Given the description of an element on the screen output the (x, y) to click on. 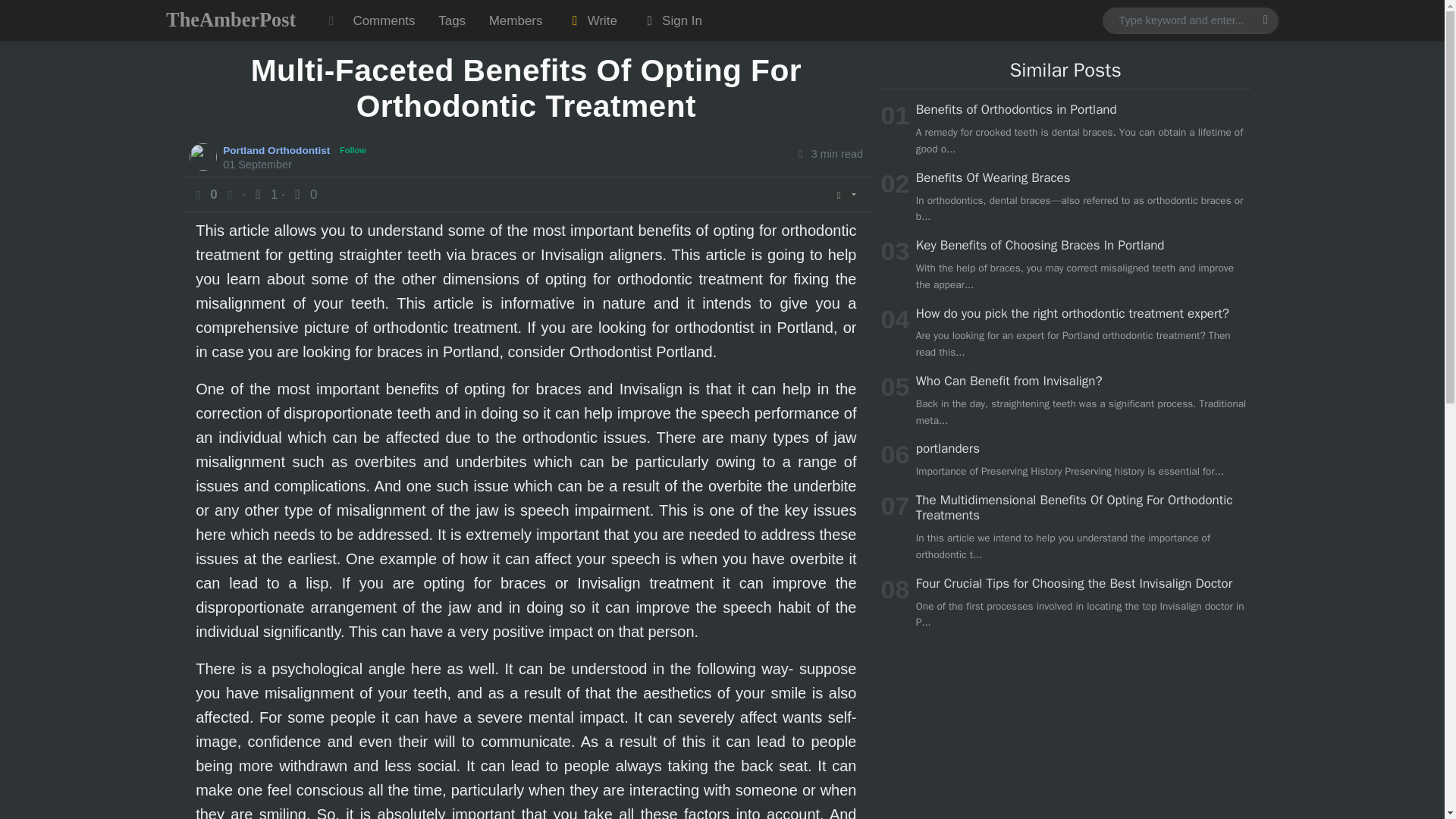
Views (264, 194)
Who Can Benefit from Invisalign? (1008, 381)
Four Crucial Tips for Choosing the Best Invisalign Doctor (1073, 583)
Comments (383, 20)
Follow (352, 150)
Write (591, 20)
Key Benefits of Choosing Braces In Portland (1039, 245)
portlanders (947, 448)
Toggle dark mode (330, 20)
TheAmberPost (230, 20)
